Given the description of an element on the screen output the (x, y) to click on. 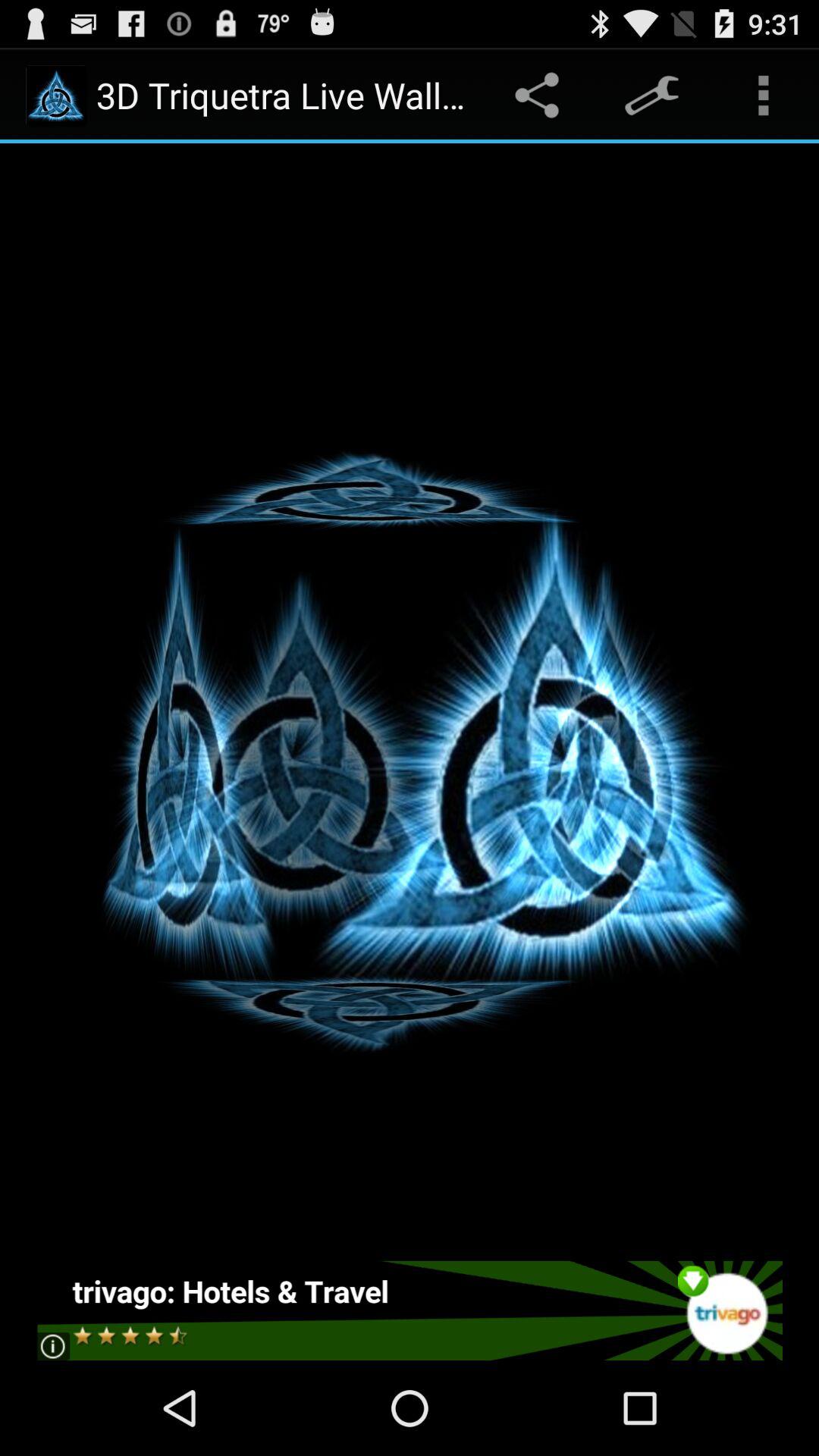
advertising area (408, 1310)
